Given the description of an element on the screen output the (x, y) to click on. 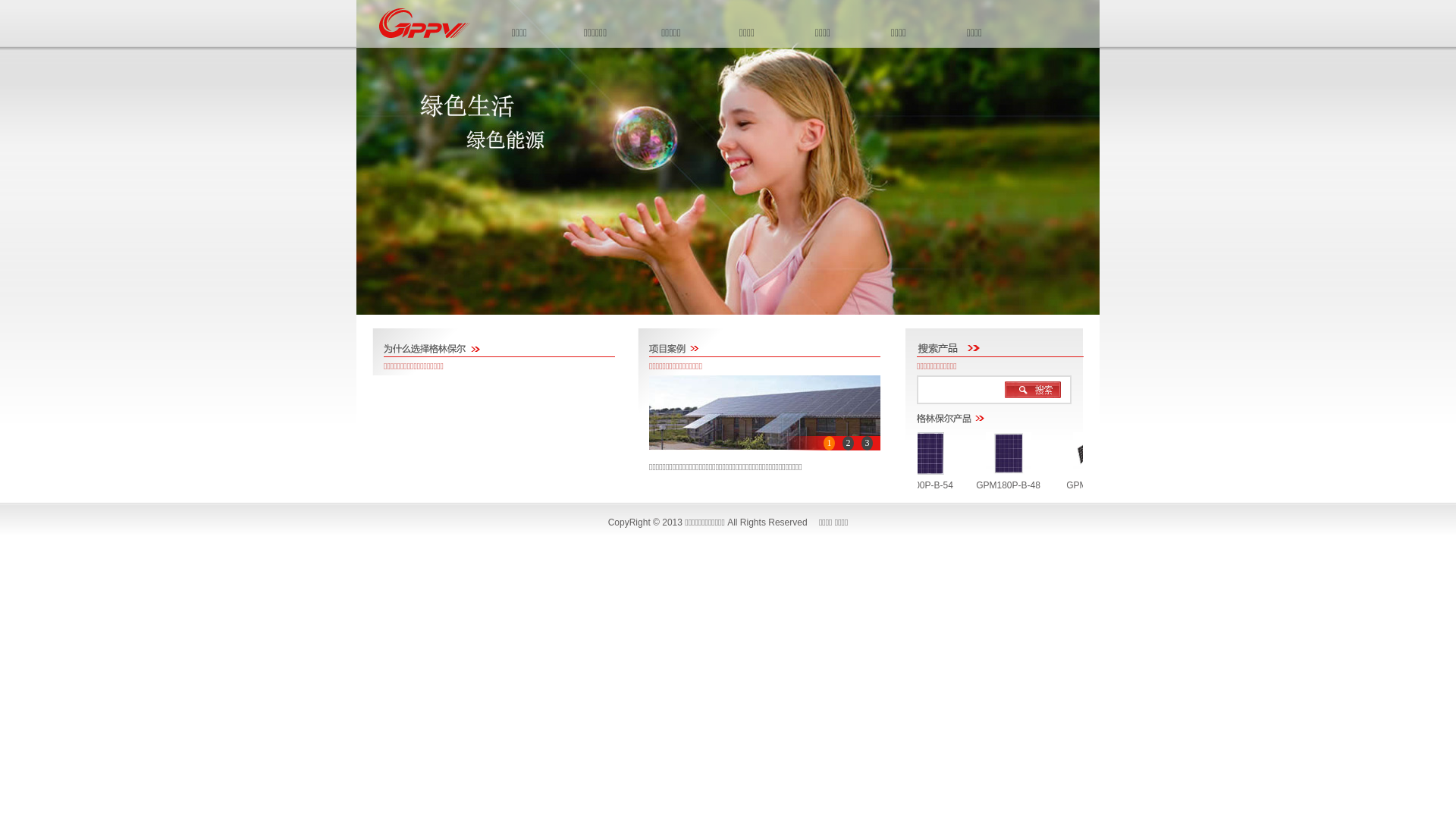
GPM280-B-72 Element type: text (1069, 478)
  Element type: text (1032, 389)
GPM180P-B-48 Element type: text (982, 478)
GPM200P-B-54 Element type: text (895, 478)
